Given the description of an element on the screen output the (x, y) to click on. 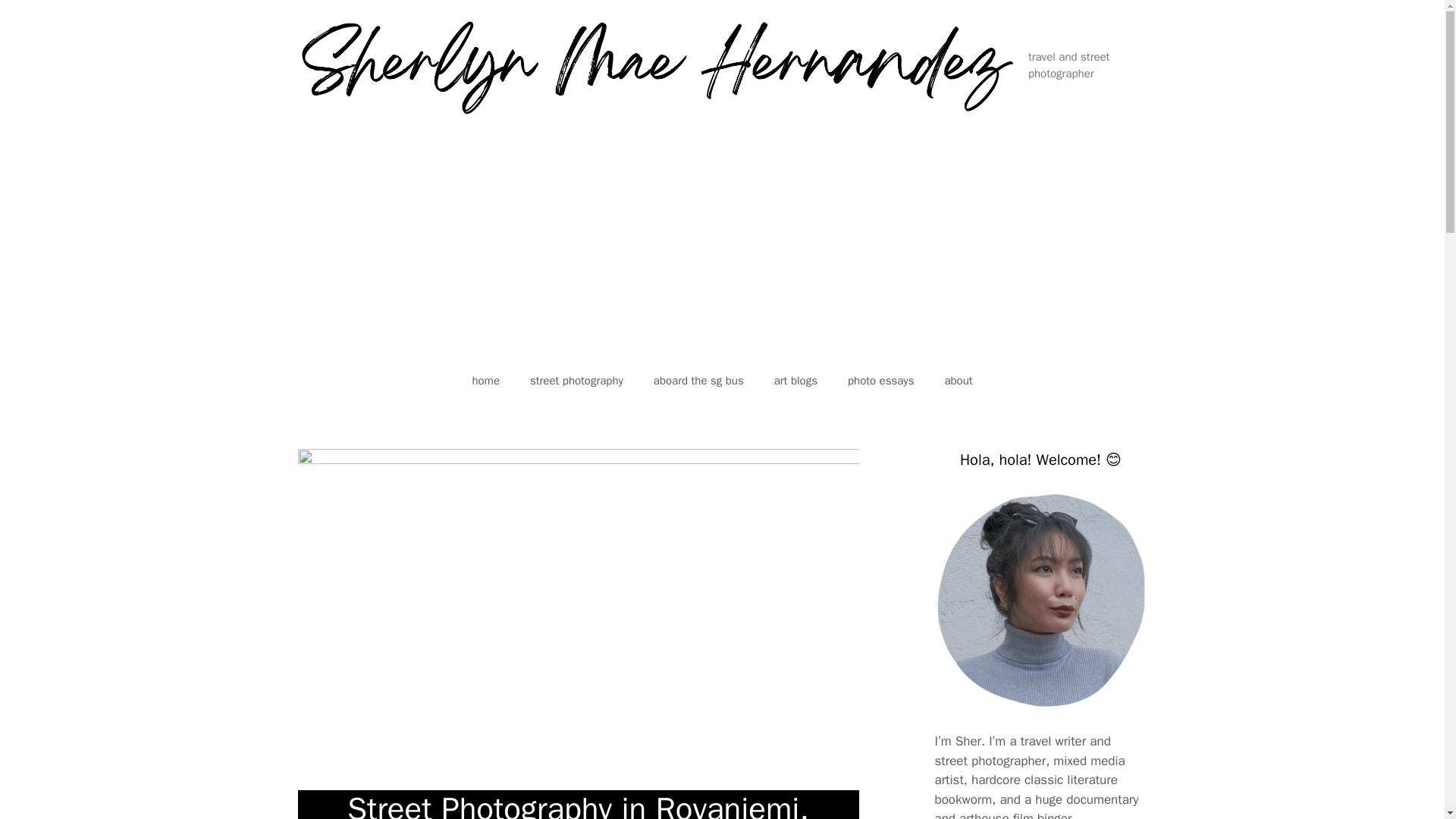
aboard the sg bus (698, 380)
street photography (577, 380)
home (486, 380)
about (957, 380)
art blogs (795, 380)
photo essays (880, 380)
